Given the description of an element on the screen output the (x, y) to click on. 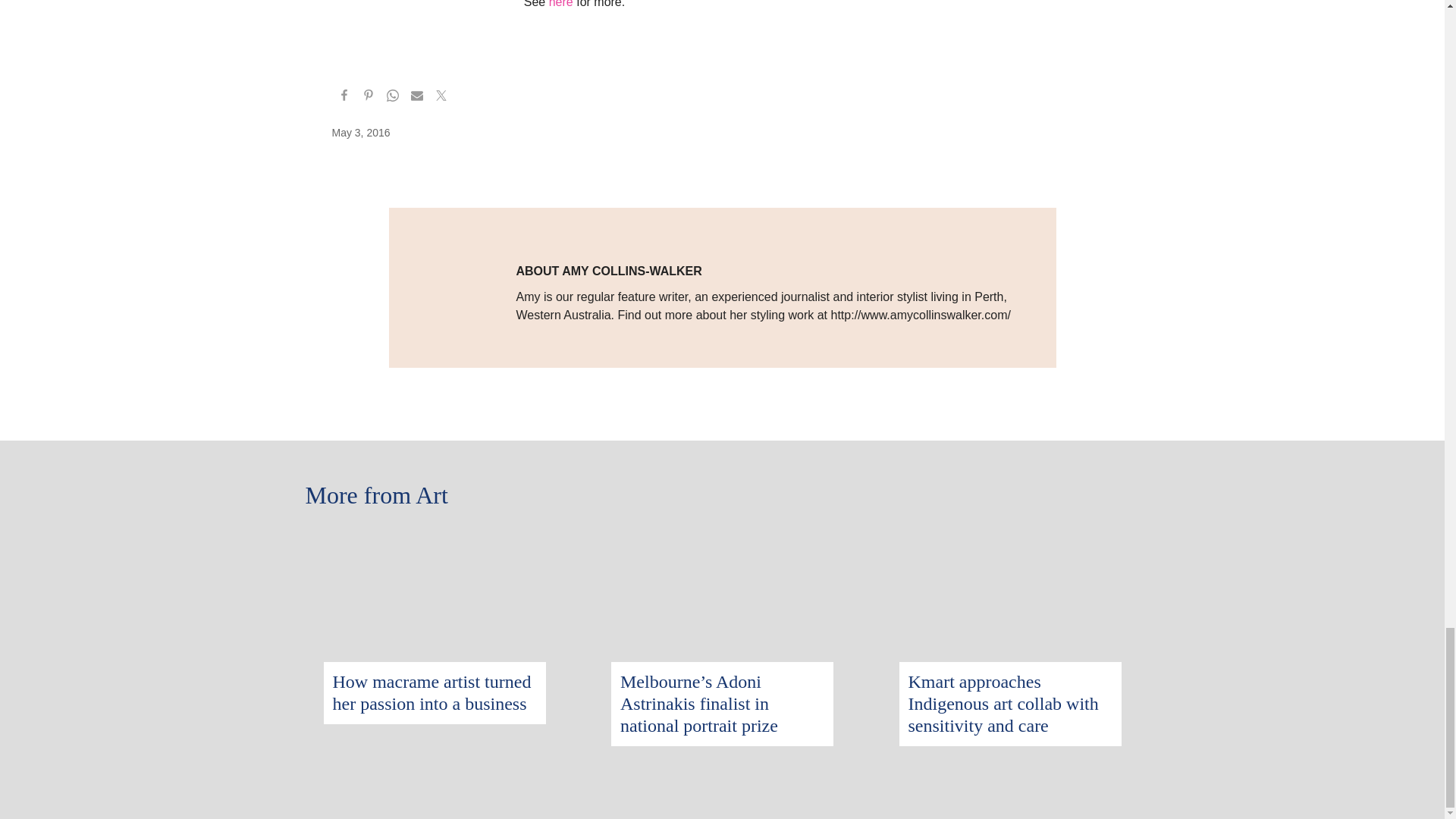
Share via Email (416, 97)
How macrame artist turned her passion into a business (431, 692)
Share on Facebook (343, 97)
How macrame artist turned her passion into a business (433, 540)
Share on Pinterest (368, 97)
Share on Twitter (440, 97)
